Given the description of an element on the screen output the (x, y) to click on. 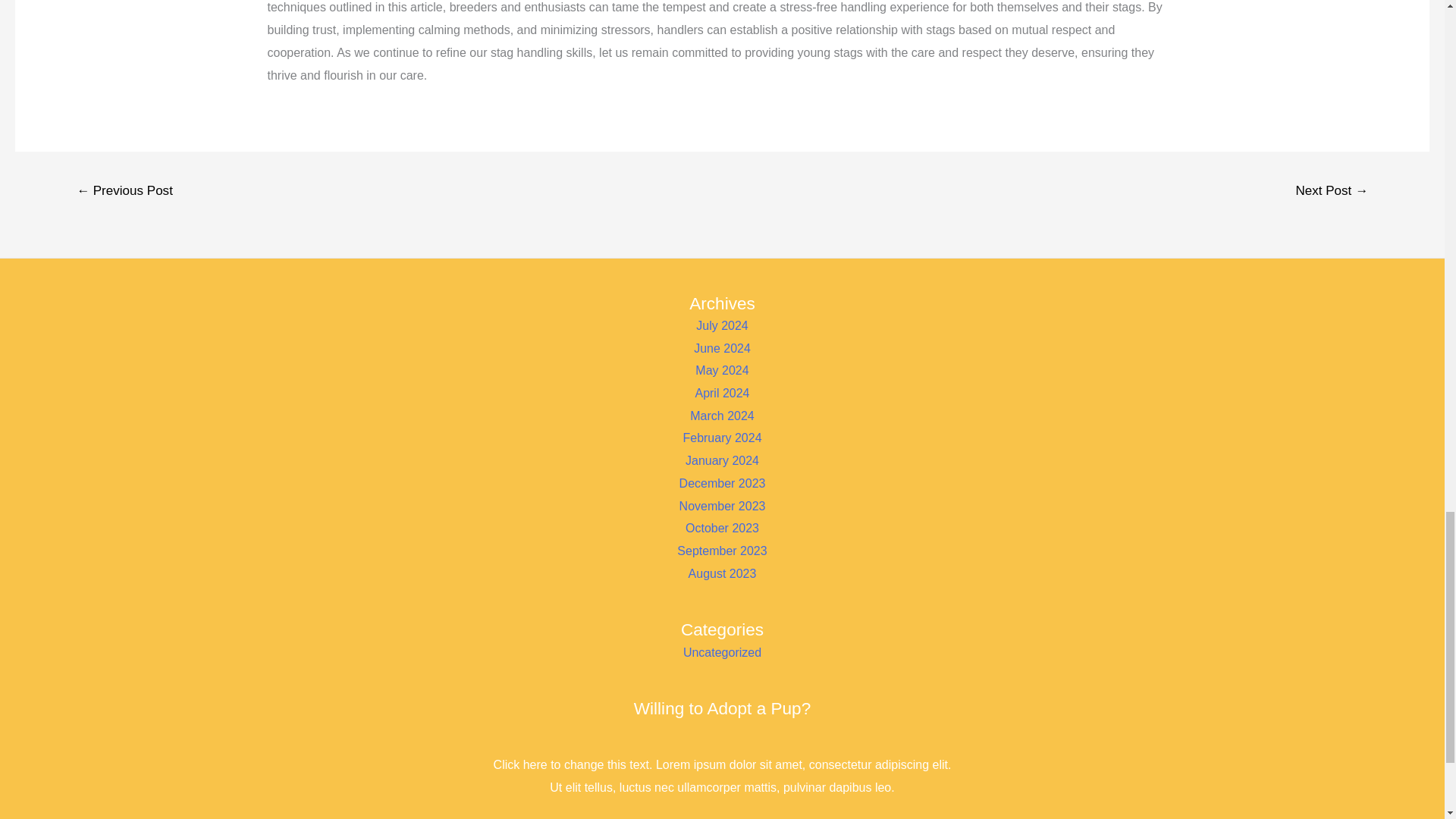
September 2023 (722, 550)
April 2024 (721, 392)
December 2023 (722, 482)
Uncategorized (721, 652)
October 2023 (721, 527)
May 2024 (721, 369)
July 2024 (721, 325)
August 2023 (722, 573)
February 2024 (721, 437)
January 2024 (721, 460)
